Given the description of an element on the screen output the (x, y) to click on. 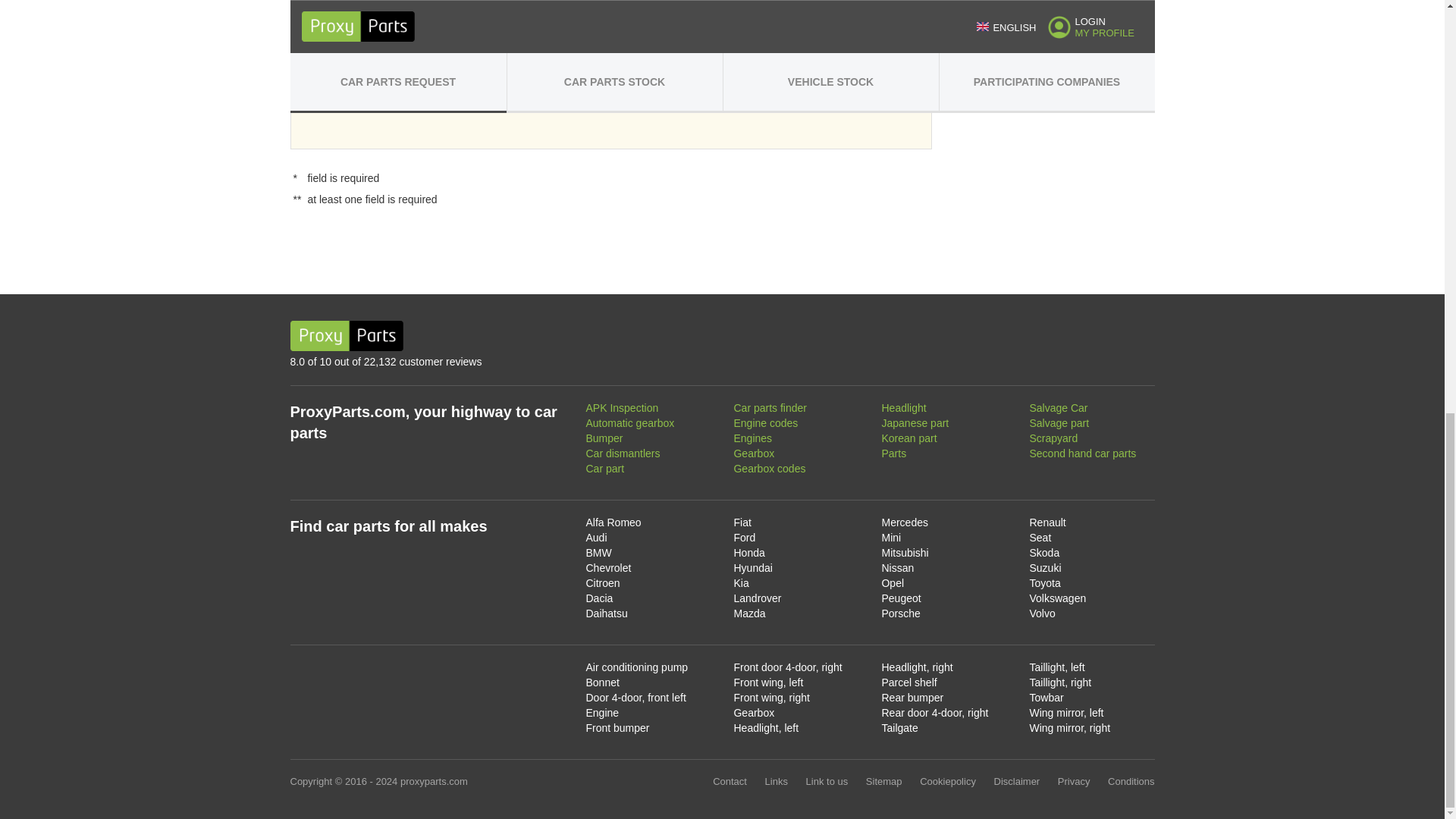
Automatic gearbox (629, 422)
Car parts finder (769, 408)
Follow us on Facebook (1131, 336)
APK Inspection (621, 408)
Car part (604, 468)
Bumper (604, 438)
8.0 of 10 out of 22,132 customer reviews (463, 362)
Car dismantlers (622, 453)
CONTINUE TO PARTS (610, 91)
